Given the description of an element on the screen output the (x, y) to click on. 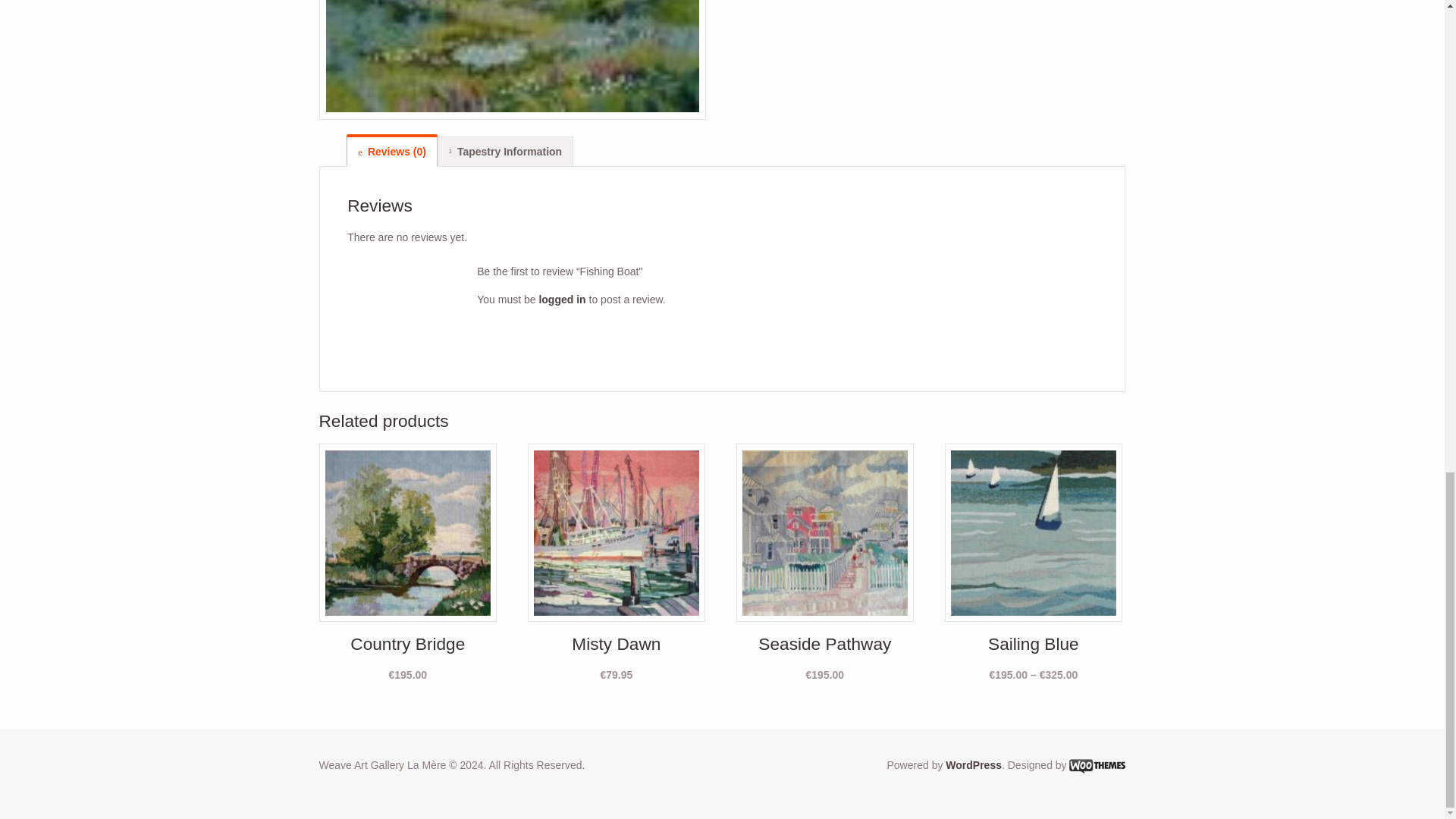
logged in (561, 299)
Tapestry Information (505, 150)
WordPress (972, 765)
